Given the description of an element on the screen output the (x, y) to click on. 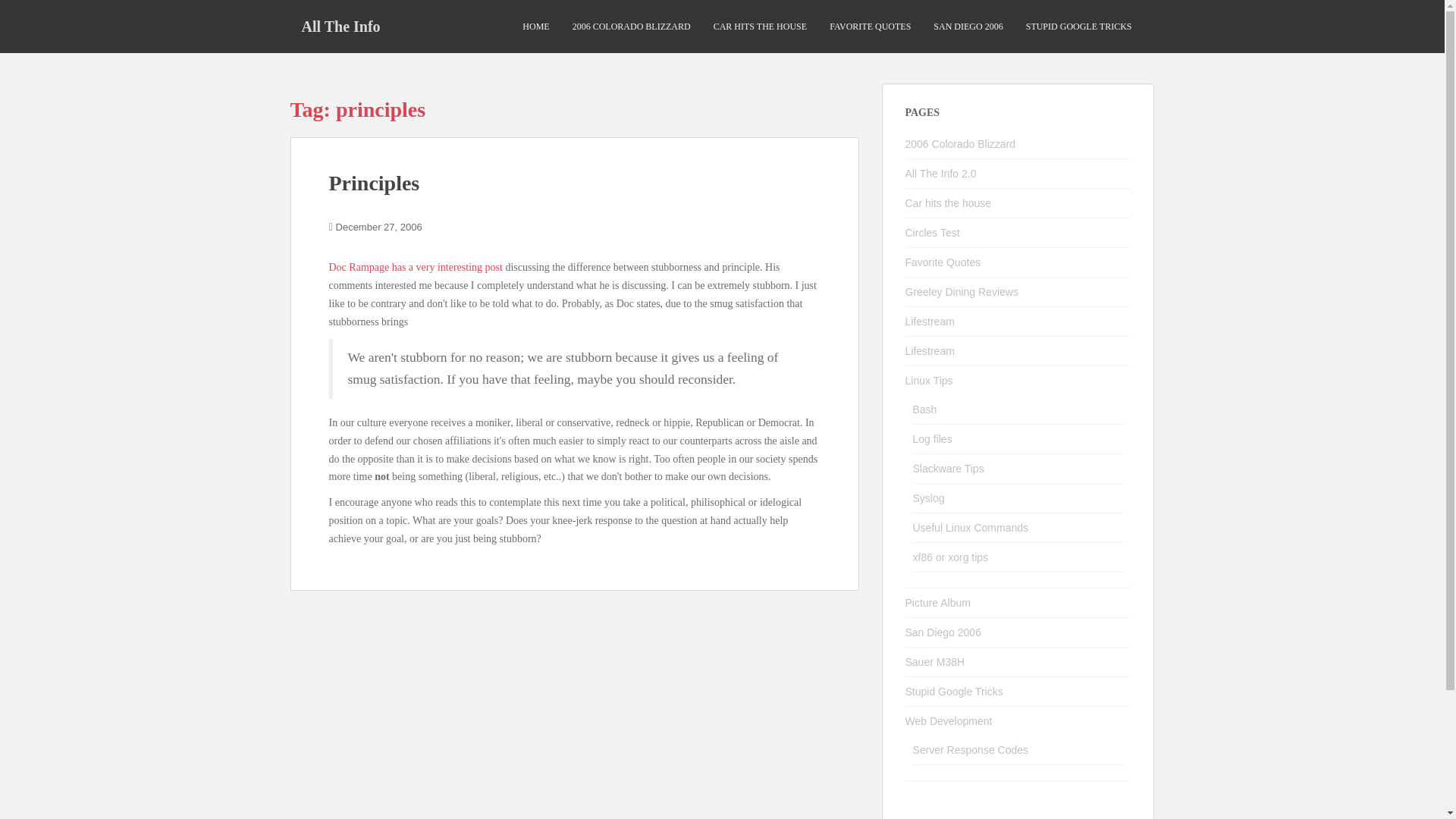
Linux Tips (929, 380)
2006 COLORADO BLIZZARD (631, 26)
Lifestream (930, 321)
Syslog (928, 498)
Greeley Dining Reviews (961, 291)
Bash (924, 409)
Car hits the house (948, 203)
Slackware Tips (948, 468)
SAN DIEGO 2006 (968, 26)
Circles Test (932, 232)
